Given the description of an element on the screen output the (x, y) to click on. 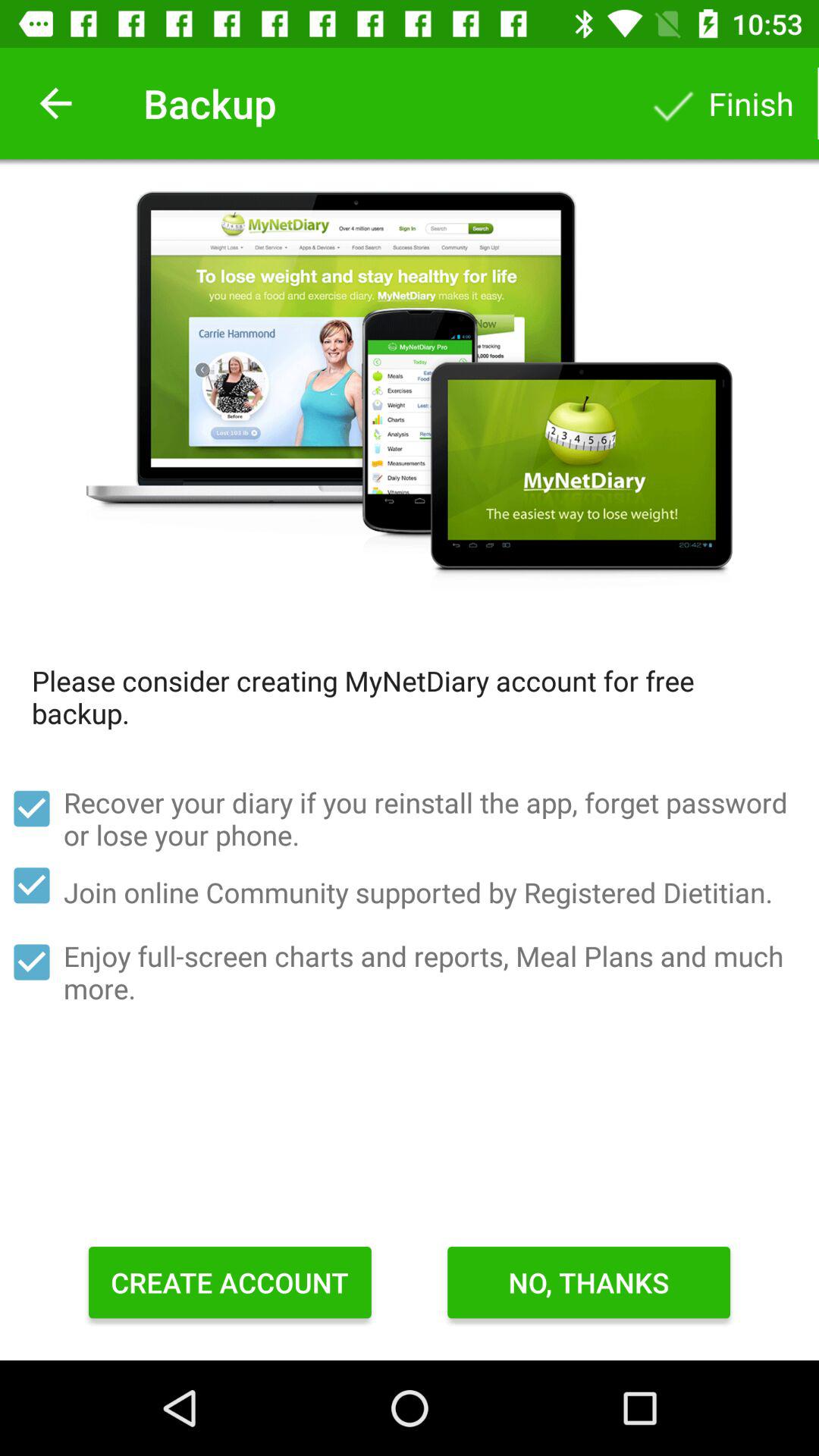
open icon next to backup icon (55, 103)
